Given the description of an element on the screen output the (x, y) to click on. 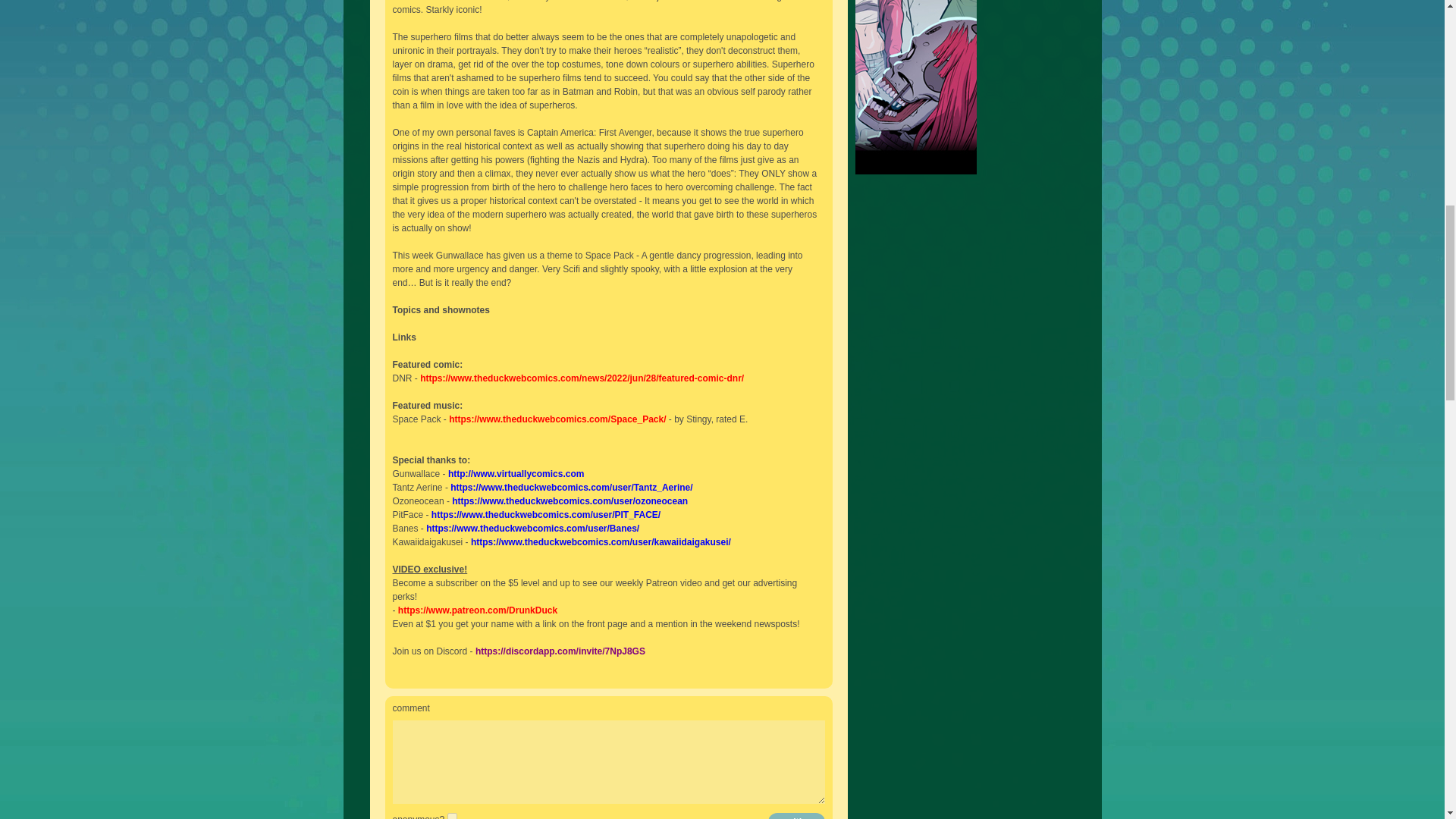
1 (451, 816)
say it! (796, 816)
